Given the description of an element on the screen output the (x, y) to click on. 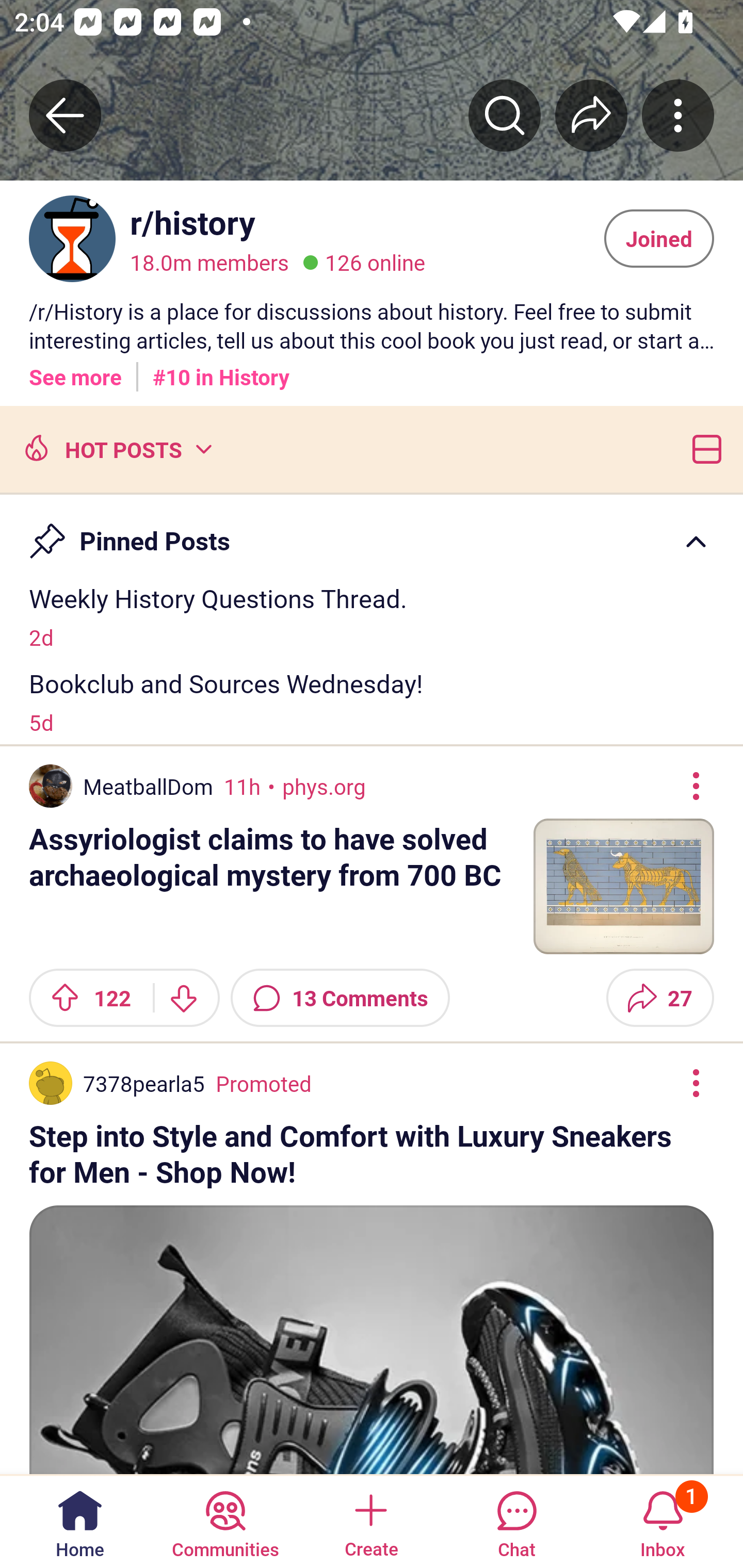
Back (64, 115)
Search r/﻿history (504, 115)
Share r/﻿history (591, 115)
More community actions (677, 115)
See more (74, 369)
#10 in History (221, 369)
Hot posts HOT POSTS (116, 448)
Card (703, 448)
Pin Pinned Posts Caret (371, 531)
Weekly History Questions Thread. 2d (371, 615)
Bookclub and Sources Wednesday! 5d (371, 701)
Home (80, 1520)
Communities (225, 1520)
Create a post Create (370, 1520)
Chat (516, 1520)
Inbox, has 1 notification 1 Inbox (662, 1520)
